Given the description of an element on the screen output the (x, y) to click on. 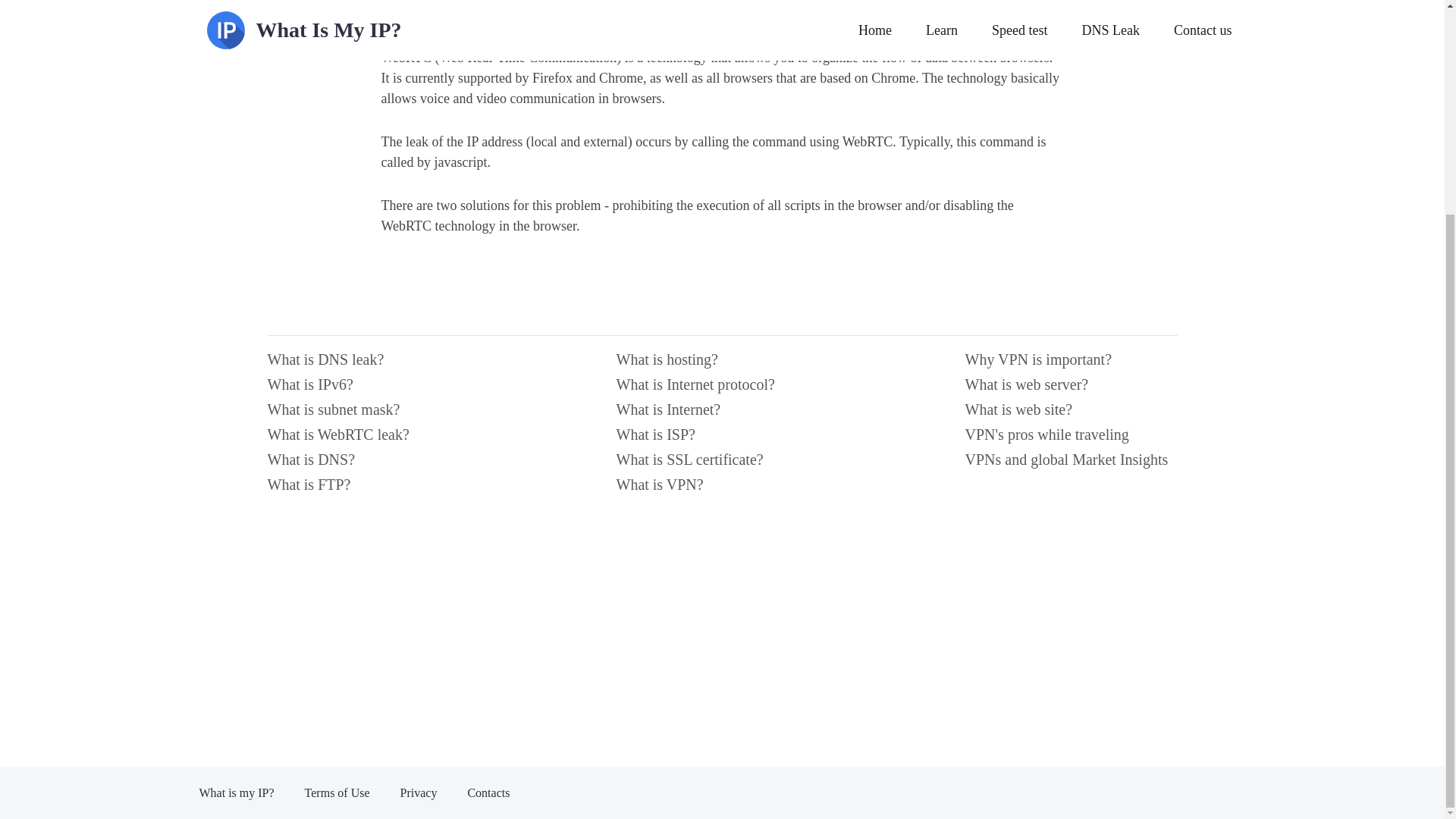
What is SSL certificate? (721, 463)
What is DNS? (372, 463)
What is web server? (1069, 388)
What is WebRTC leak? (372, 438)
What is ISP? (721, 438)
What is web site? (1069, 413)
VPN's pros while traveling (1069, 438)
What is FTP? (372, 488)
VPNs and global Market Insights (1069, 463)
Contacts (488, 793)
What is my IP? (235, 793)
What is IPv6? (372, 388)
What is DNS leak? (372, 363)
Privacy (419, 793)
